Given the description of an element on the screen output the (x, y) to click on. 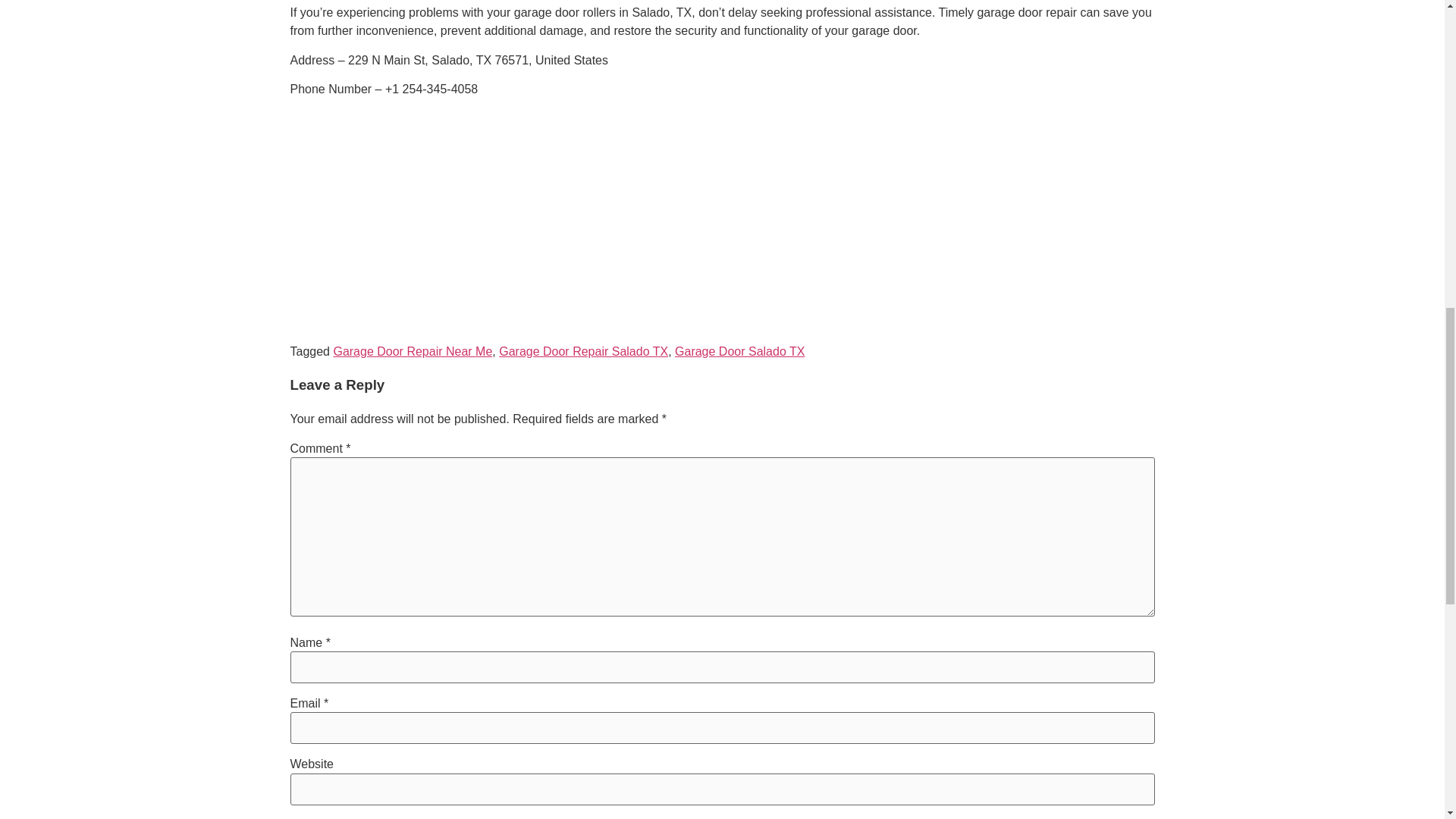
Garage Door Salado TX (740, 350)
Garage Door Repair Salado TX (583, 350)
Garage Door Repair Near Me (412, 350)
